Given the description of an element on the screen output the (x, y) to click on. 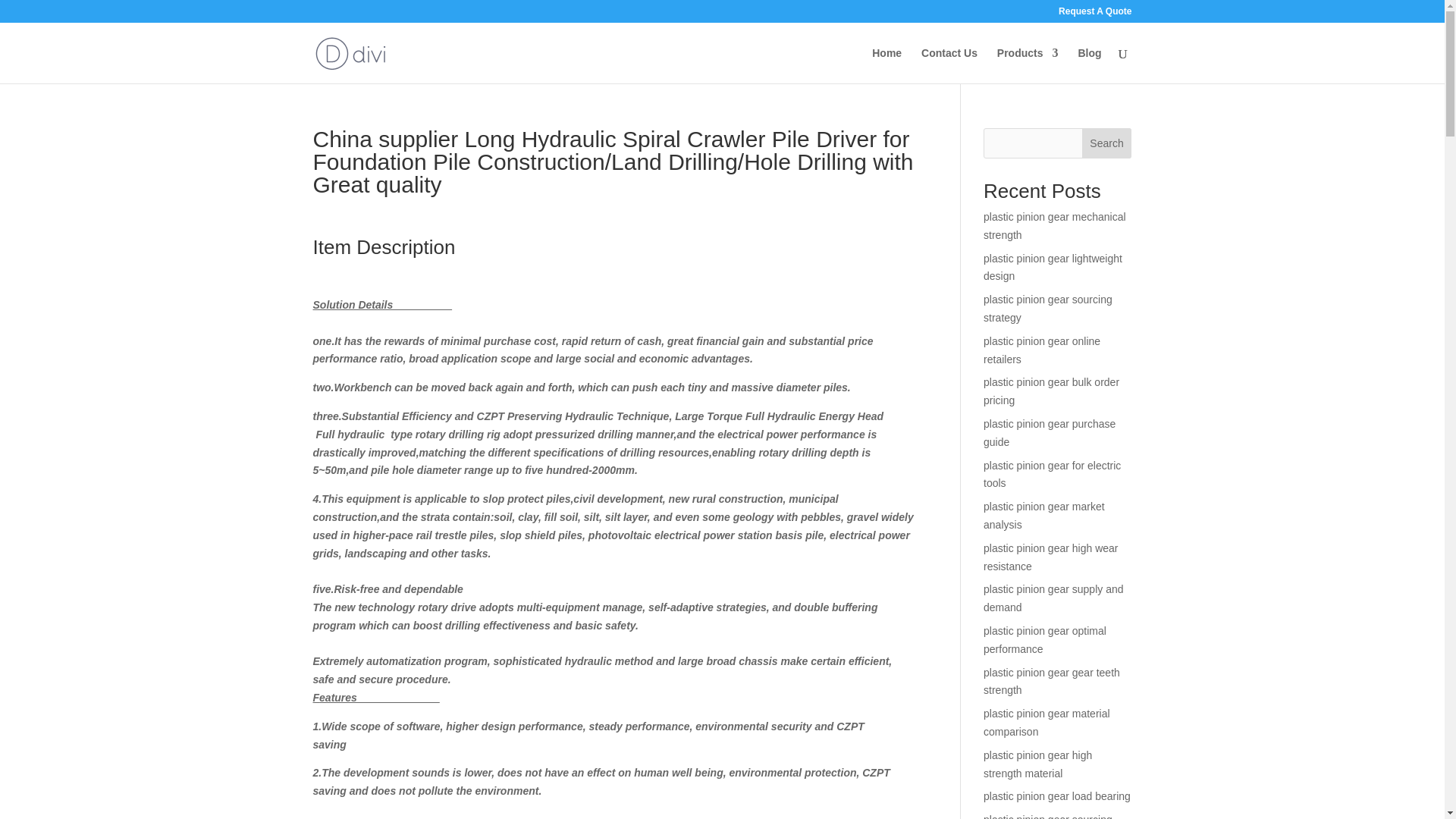
plastic pinion gear market analysis (1044, 515)
Contact Us (948, 65)
plastic pinion gear high wear resistance (1051, 557)
plastic pinion gear supply and demand (1053, 598)
plastic pinion gear purchase guide (1049, 432)
plastic pinion gear bulk order pricing (1051, 390)
plastic pinion gear lightweight design (1053, 267)
Products (1027, 65)
plastic pinion gear sourcing guide (1048, 816)
plastic pinion gear mechanical strength (1054, 225)
